Given the description of an element on the screen output the (x, y) to click on. 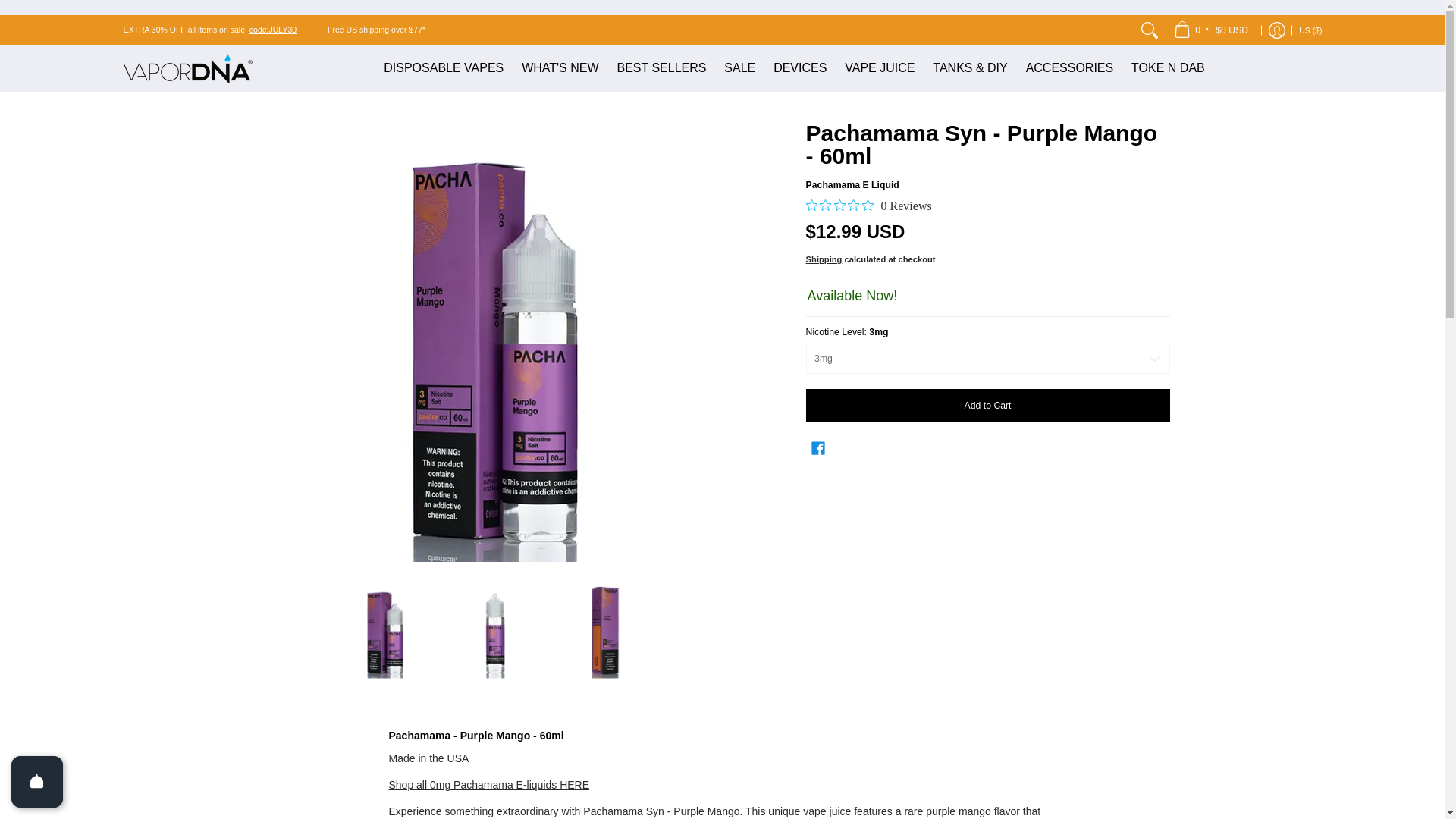
SALE (739, 67)
Sale (272, 29)
BEST SELLERS (660, 67)
VaporDNA (186, 67)
code:JULY30 (272, 29)
BF (1163, 47)
Cart (1211, 30)
DISPOSABLE VAPES (443, 67)
0 Reviews (868, 205)
Log in (1277, 30)
WHAT'S NEW (559, 67)
BG (1153, 17)
